Given the description of an element on the screen output the (x, y) to click on. 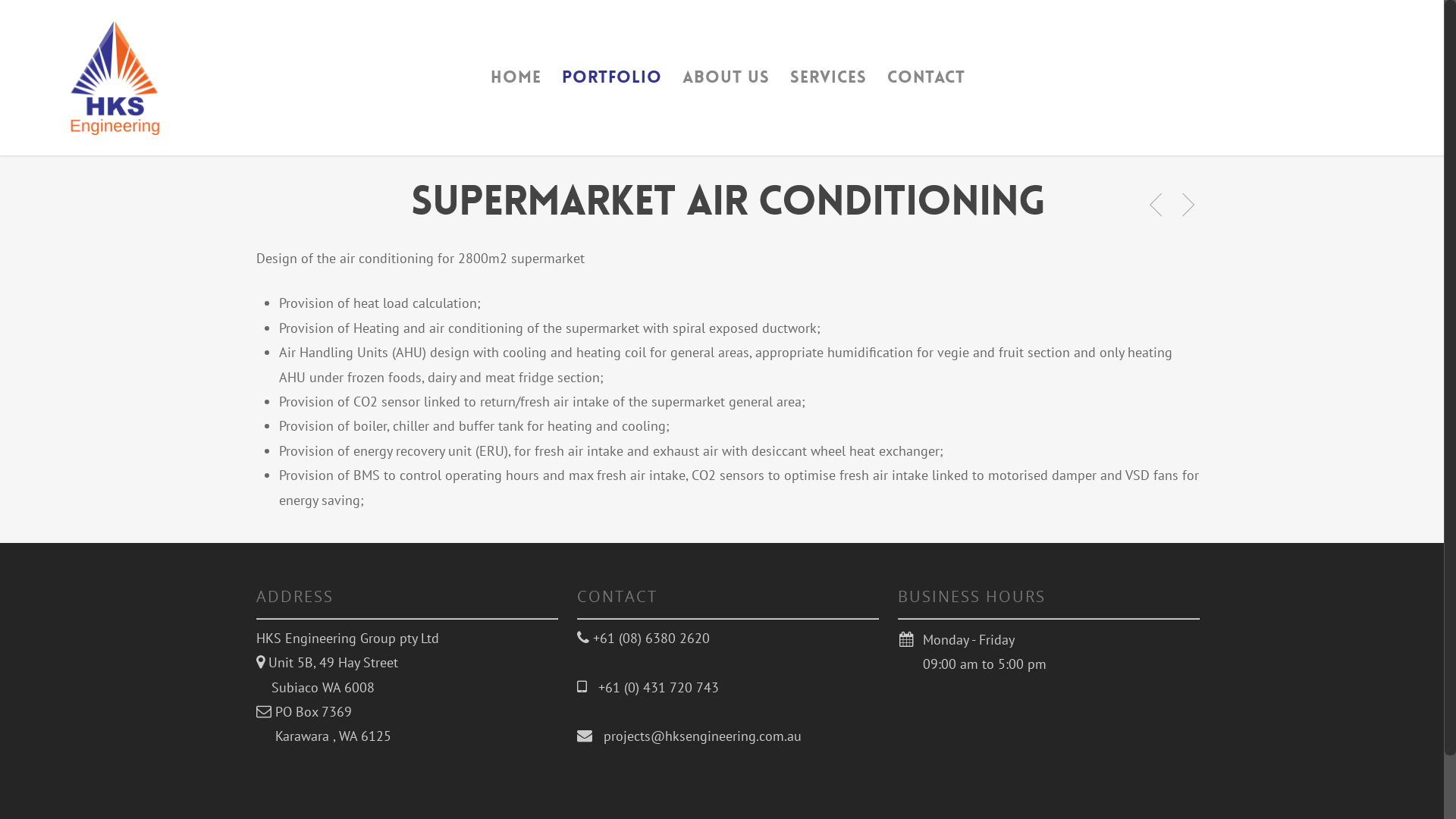
Home Element type: text (516, 88)
About Us Element type: text (725, 88)
Contact Element type: text (925, 88)
Services Element type: text (828, 88)
   projects@hksengineering.com.au Element type: text (696, 735)
+61 (08) 6380 2620 Element type: text (649, 637)
   +61 (0) 431 720 743 Element type: text (652, 687)
Portfolio Element type: text (611, 88)
